Given the description of an element on the screen output the (x, y) to click on. 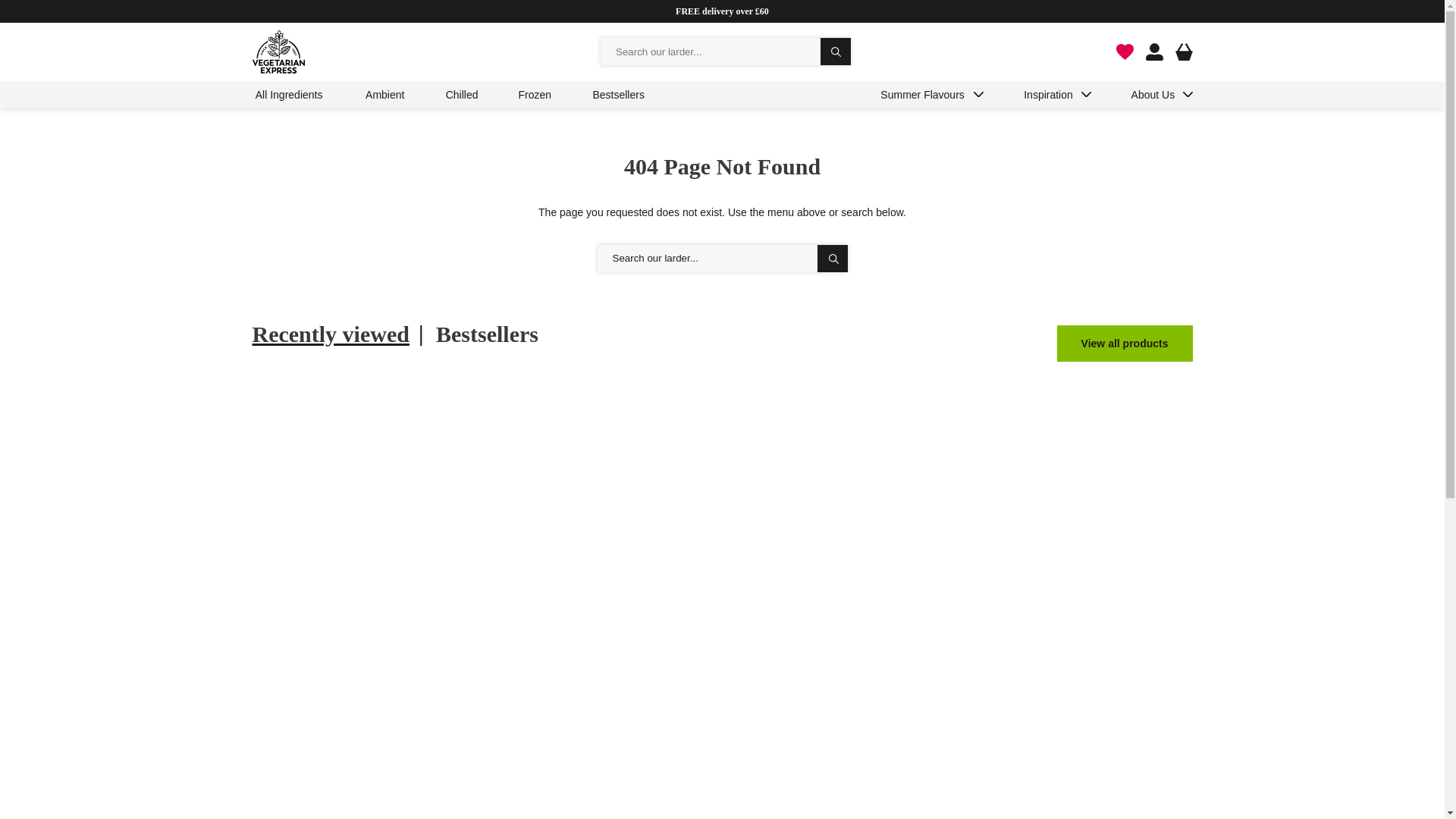
Ambient (385, 94)
All Ingredients (287, 94)
